Given the description of an element on the screen output the (x, y) to click on. 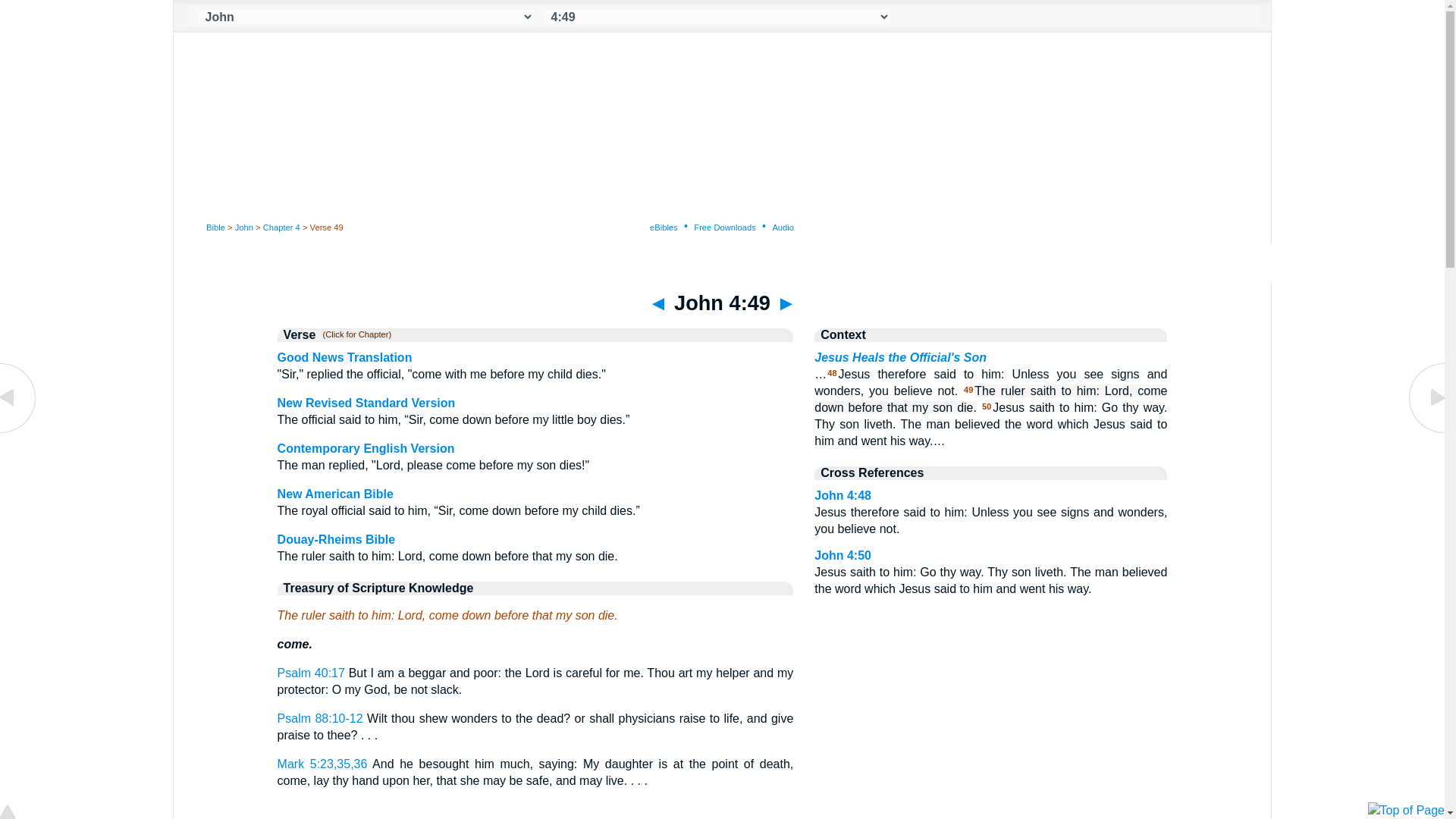
Good News Translation (345, 357)
Chapter 4 (281, 226)
John 4:48 (841, 495)
Contemporary English Version (366, 448)
Bible (215, 226)
John 4:48 (18, 431)
Top of Page (18, 813)
Click any translation name for full chapter (353, 335)
New American Bible (335, 493)
Mark 5:23,35,36 (323, 763)
